Given the description of an element on the screen output the (x, y) to click on. 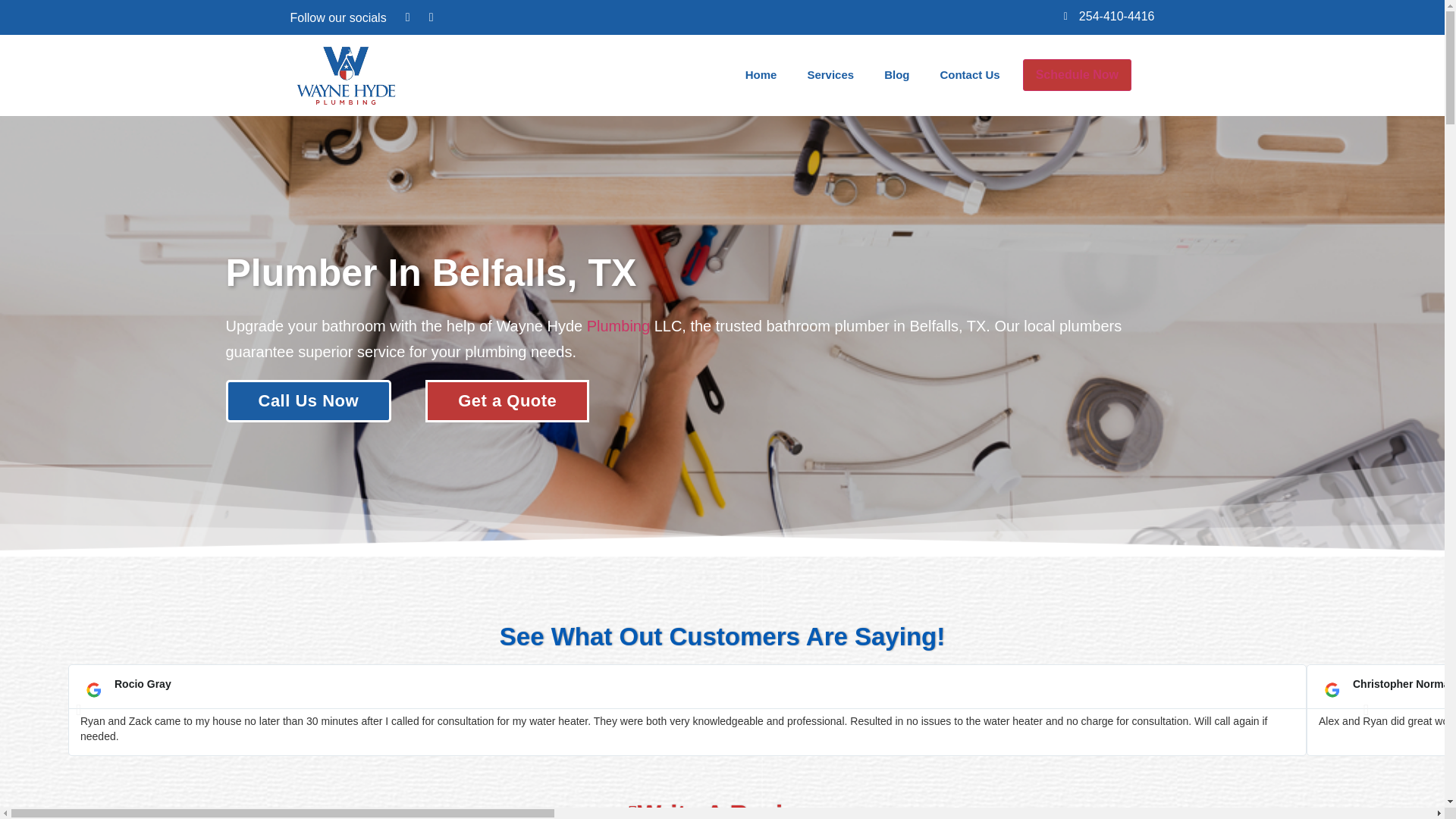
Services (830, 74)
Contact Us (969, 74)
Plumbing (617, 325)
Schedule Now (1077, 74)
Write A Review (721, 810)
254-410-4416 (1104, 12)
Call Us Now (308, 401)
Home (761, 74)
Get a Quote (507, 401)
Blog (896, 74)
